Given the description of an element on the screen output the (x, y) to click on. 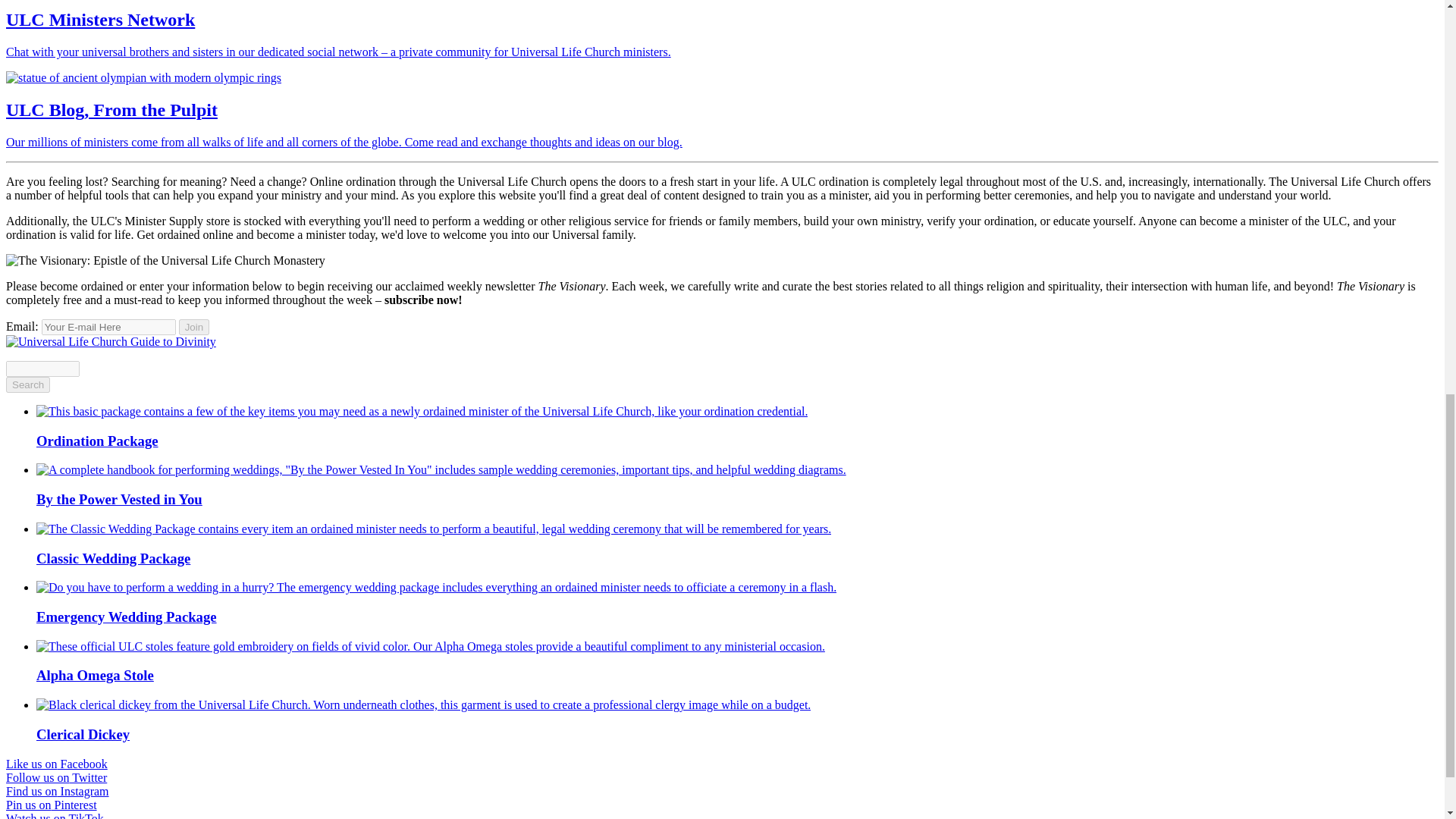
Join (194, 326)
Universal Life Church Guide to Divinity (110, 341)
Search (27, 384)
Search (27, 384)
Join (194, 326)
Search (27, 384)
